Given the description of an element on the screen output the (x, y) to click on. 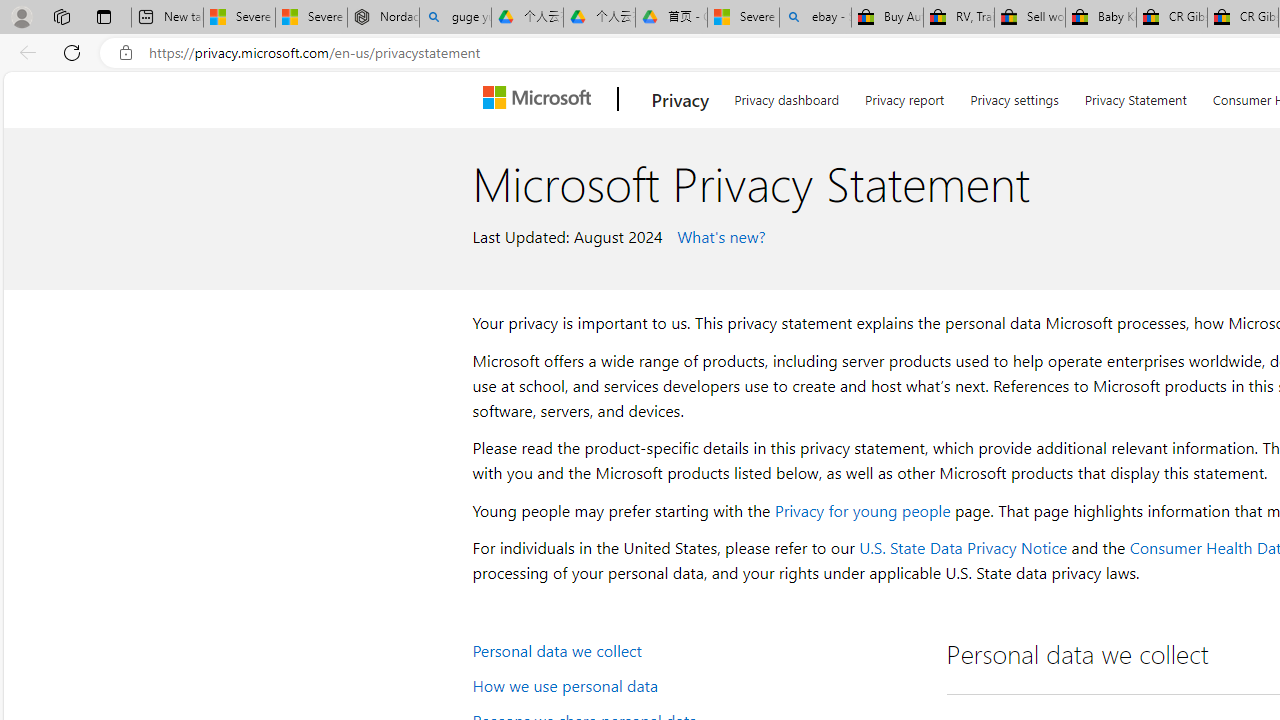
How we use personal data (696, 684)
 What's new? (718, 235)
